Given the description of an element on the screen output the (x, y) to click on. 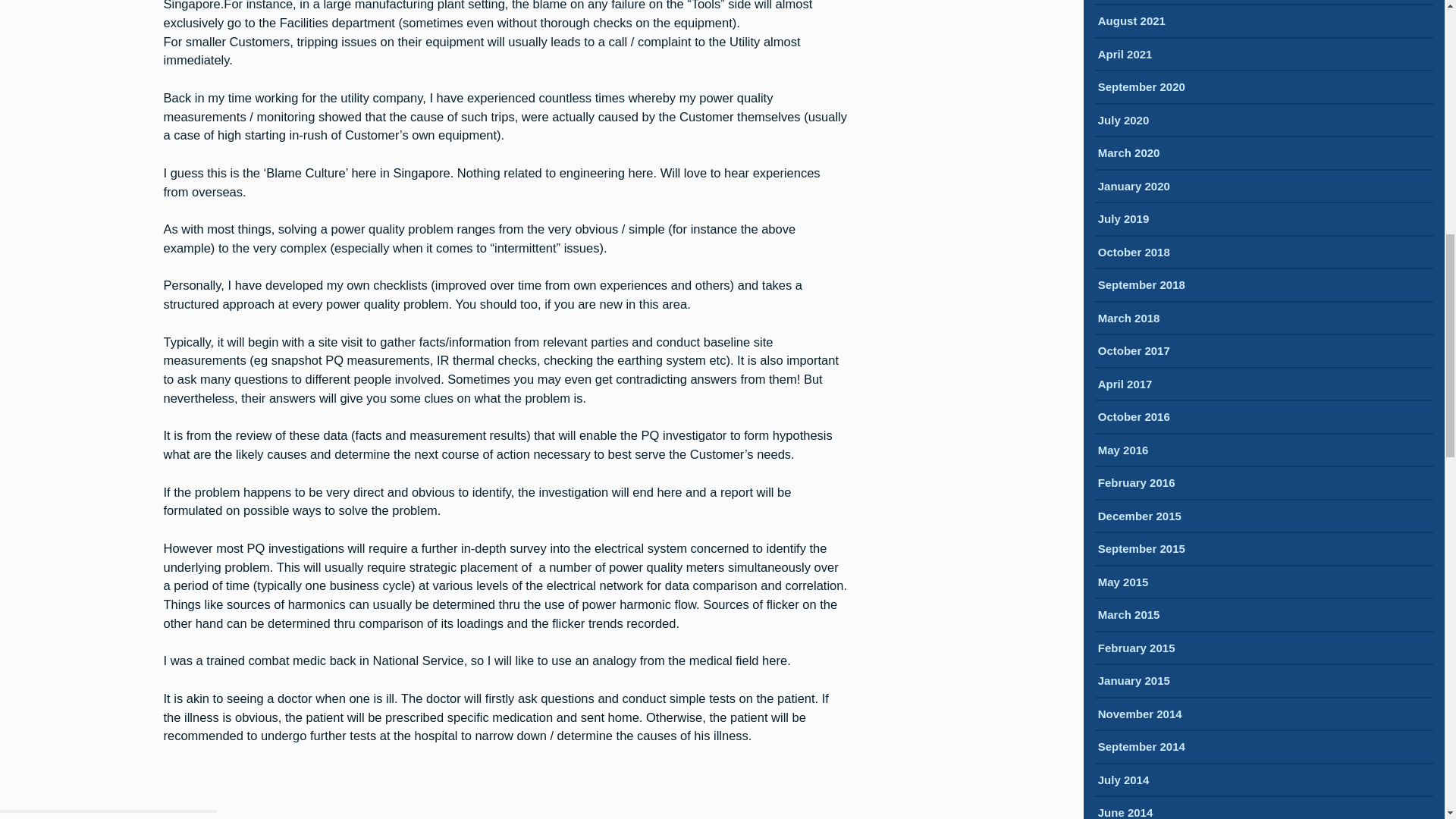
January 2020 (1133, 187)
March 2020 (1128, 154)
October 2018 (1133, 253)
April 2021 (1125, 55)
July 2019 (1123, 220)
July 2020 (1123, 121)
September 2018 (1141, 286)
August 2021 (1131, 22)
September 2020 (1141, 88)
